Given the description of an element on the screen output the (x, y) to click on. 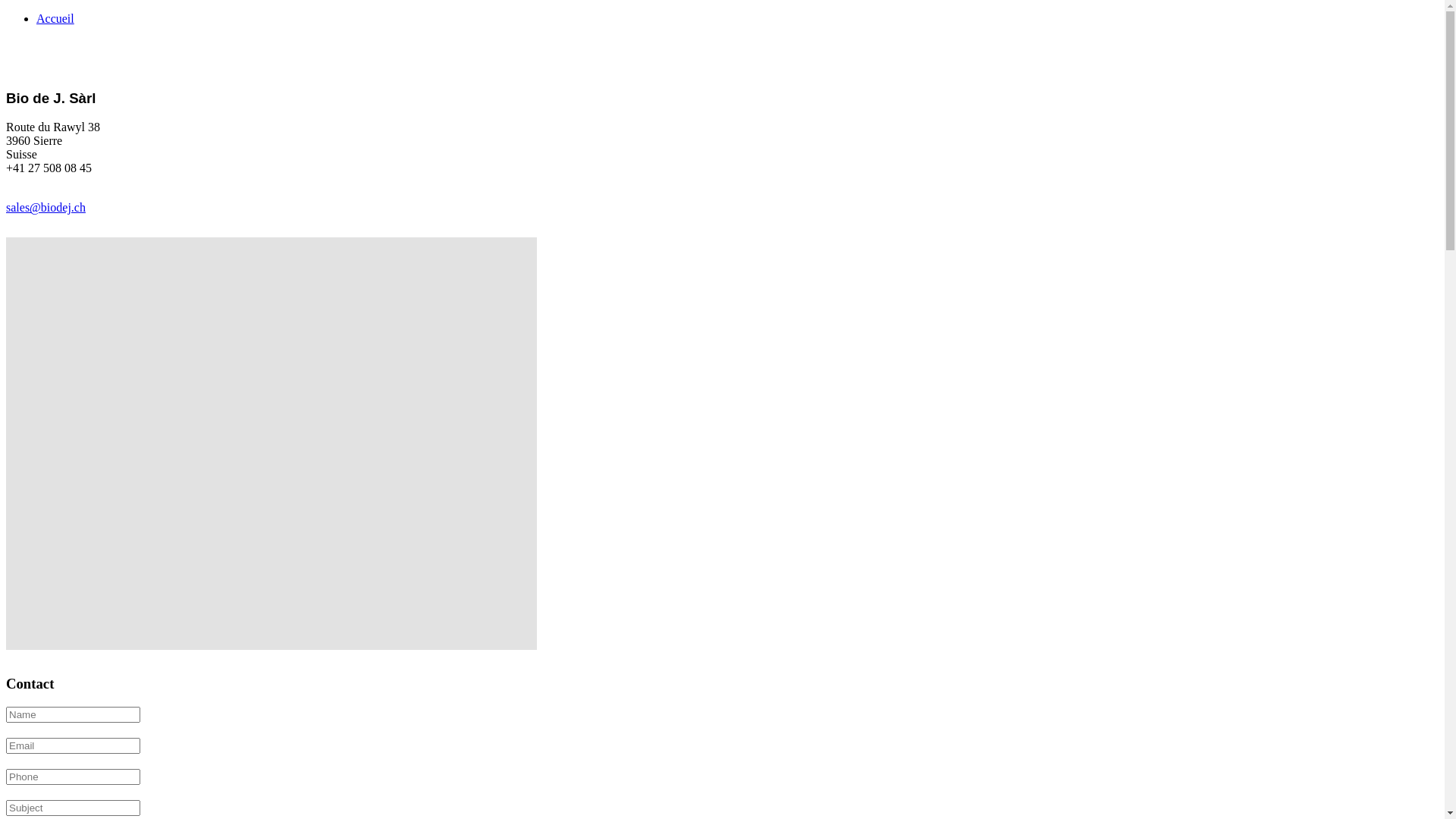
Accueil Element type: text (55, 18)
sales@biodej.ch Element type: text (45, 206)
